Given the description of an element on the screen output the (x, y) to click on. 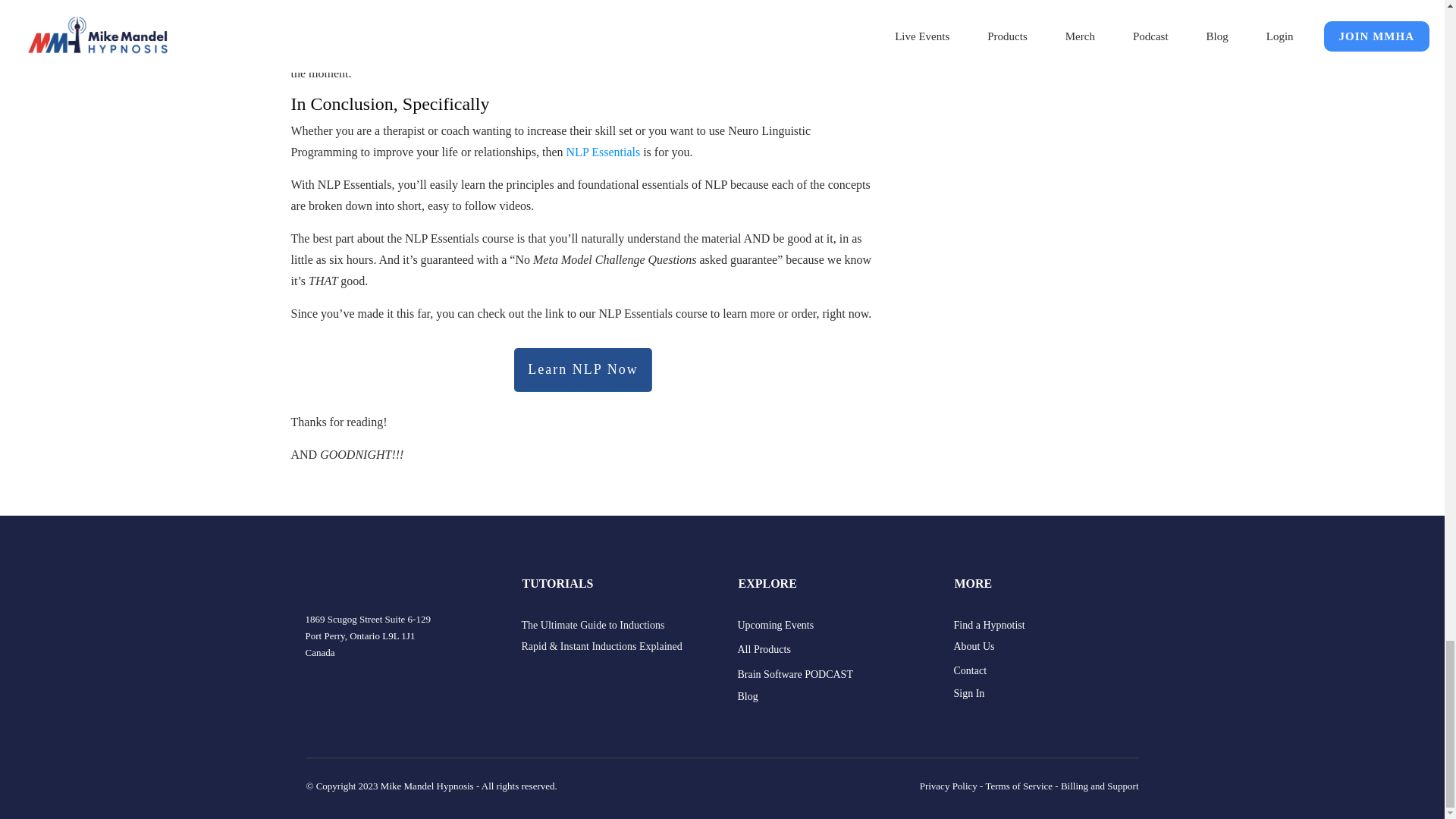
The Ultimate Guide to Inductions (593, 624)
Learn NLP Now (581, 370)
NLP Essentials (603, 151)
